Given the description of an element on the screen output the (x, y) to click on. 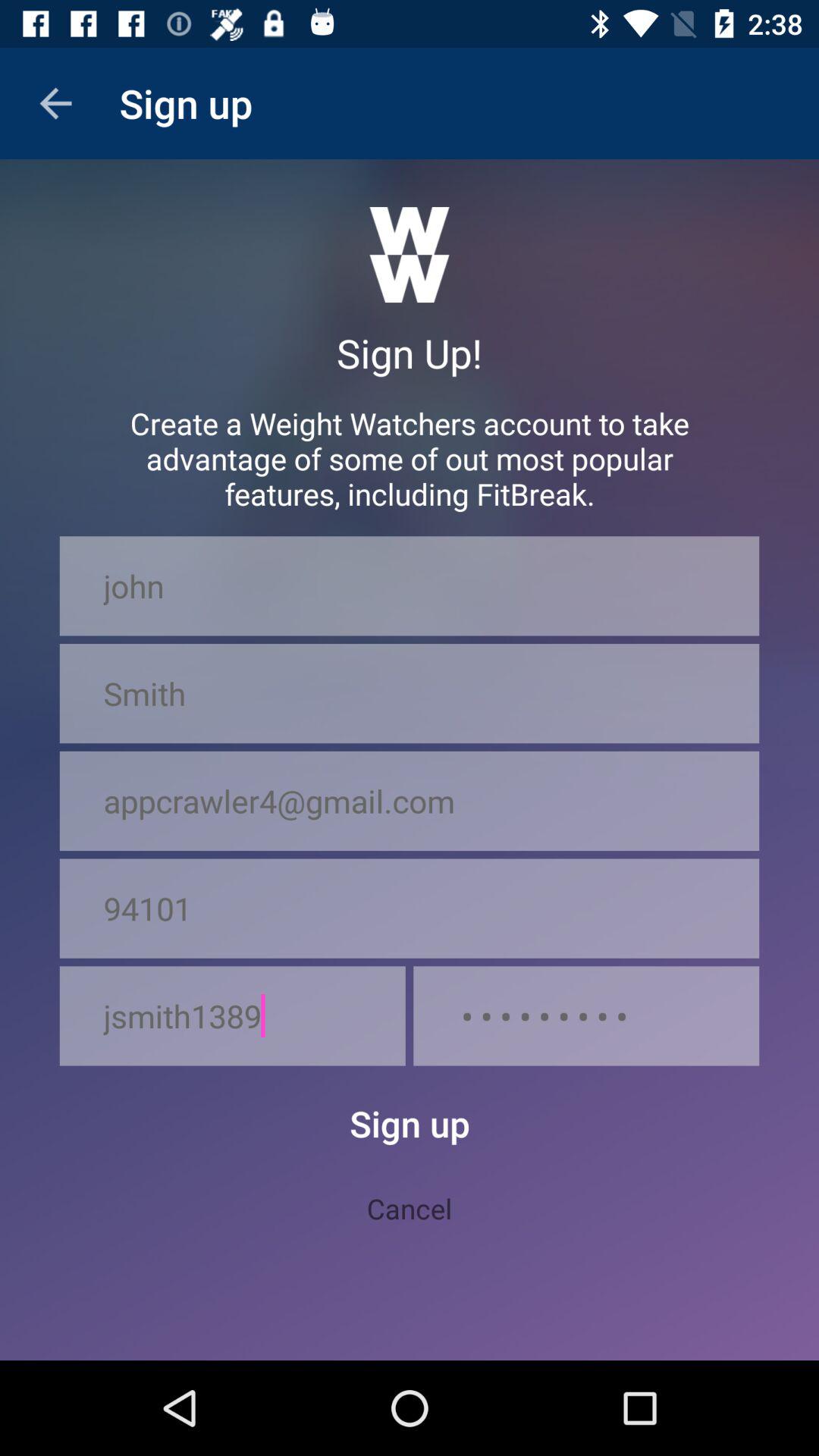
scroll to appcrawler4@gmail.com item (409, 800)
